Given the description of an element on the screen output the (x, y) to click on. 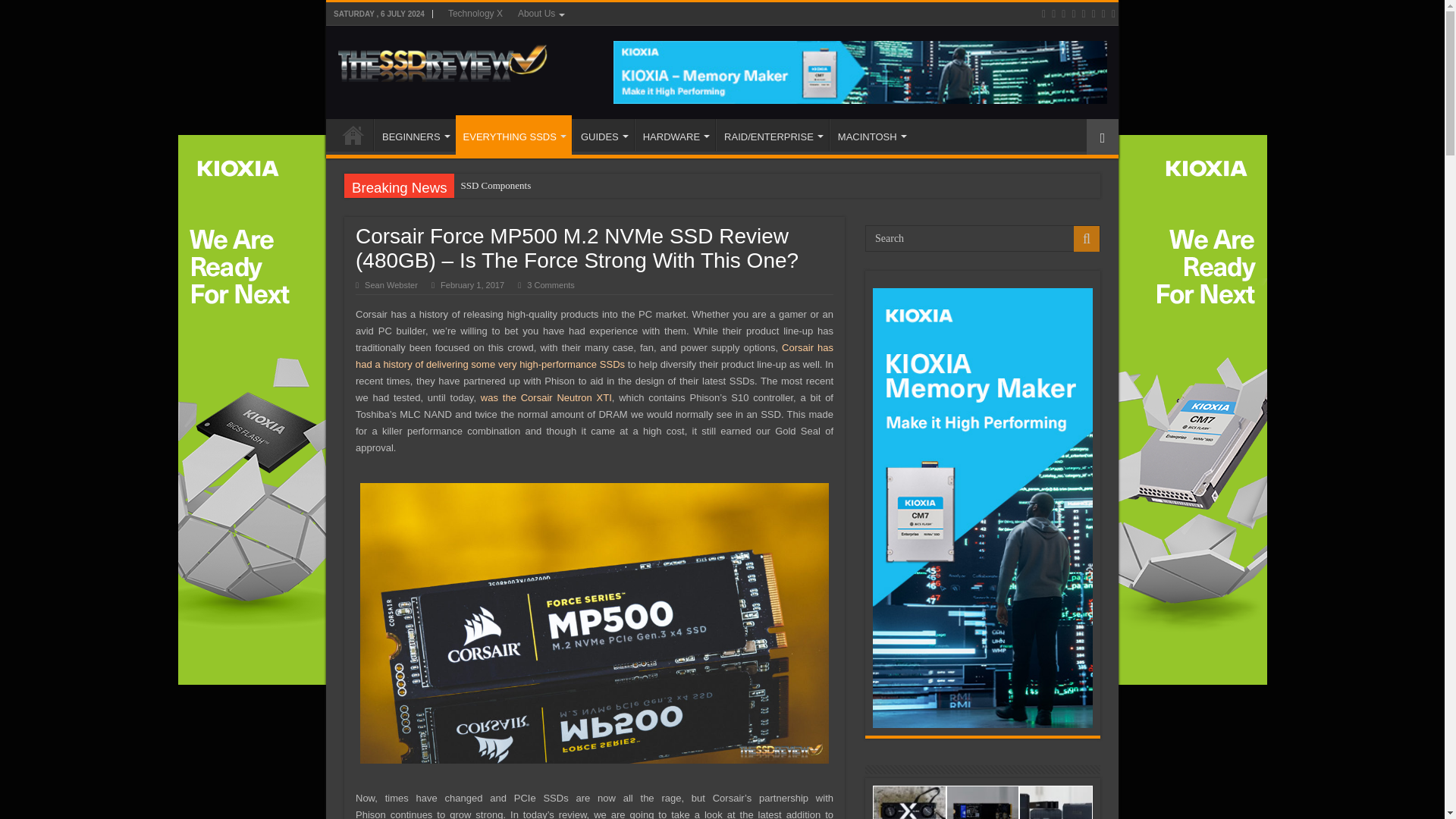
Reddit (1083, 13)
StumbleUpon (1103, 13)
Twitter (1063, 13)
Search (982, 238)
LinkedIn (1073, 13)
Delicious (1093, 13)
Facebook (1053, 13)
Rss (1043, 13)
